Given the description of an element on the screen output the (x, y) to click on. 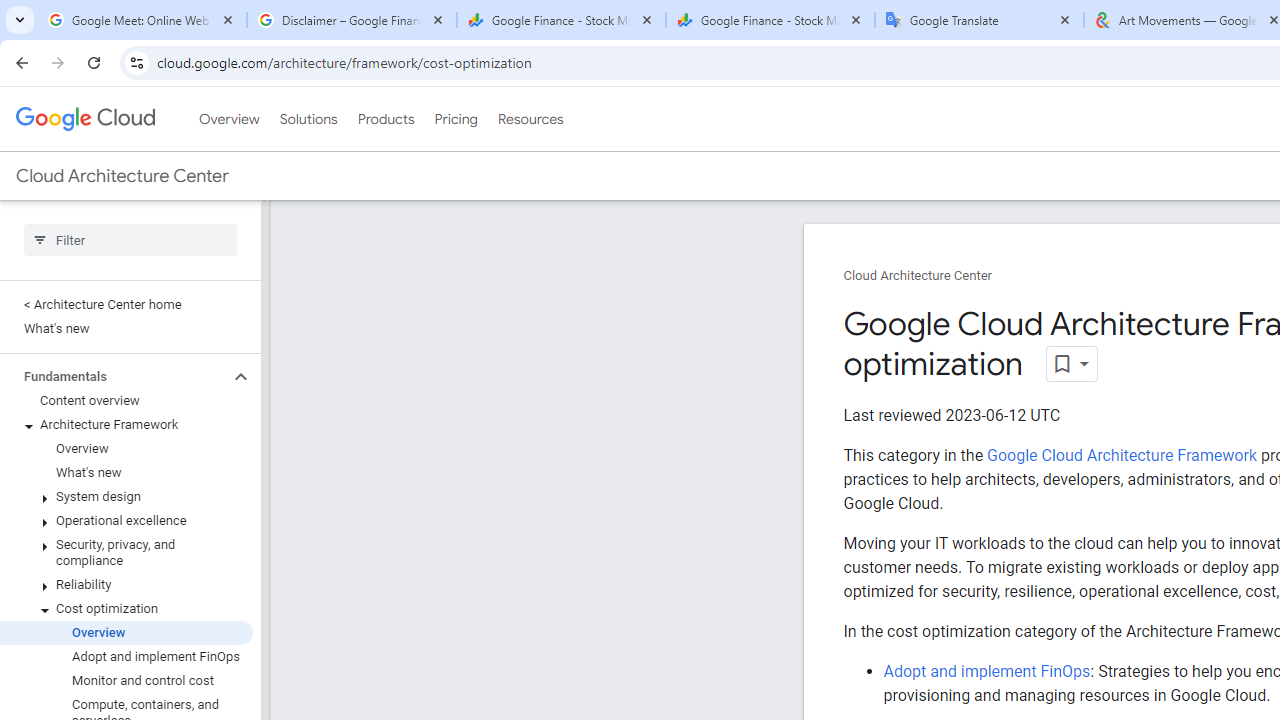
Type to filter (130, 239)
Monitor and control cost (126, 680)
< Architecture Center home (126, 304)
Security, privacy, and compliance (126, 552)
Fundamentals (114, 376)
Architecture Framework (126, 425)
Google Translate (979, 20)
Google Cloud Architecture Framework (1121, 455)
Products (385, 119)
Solutions (308, 119)
